Given the description of an element on the screen output the (x, y) to click on. 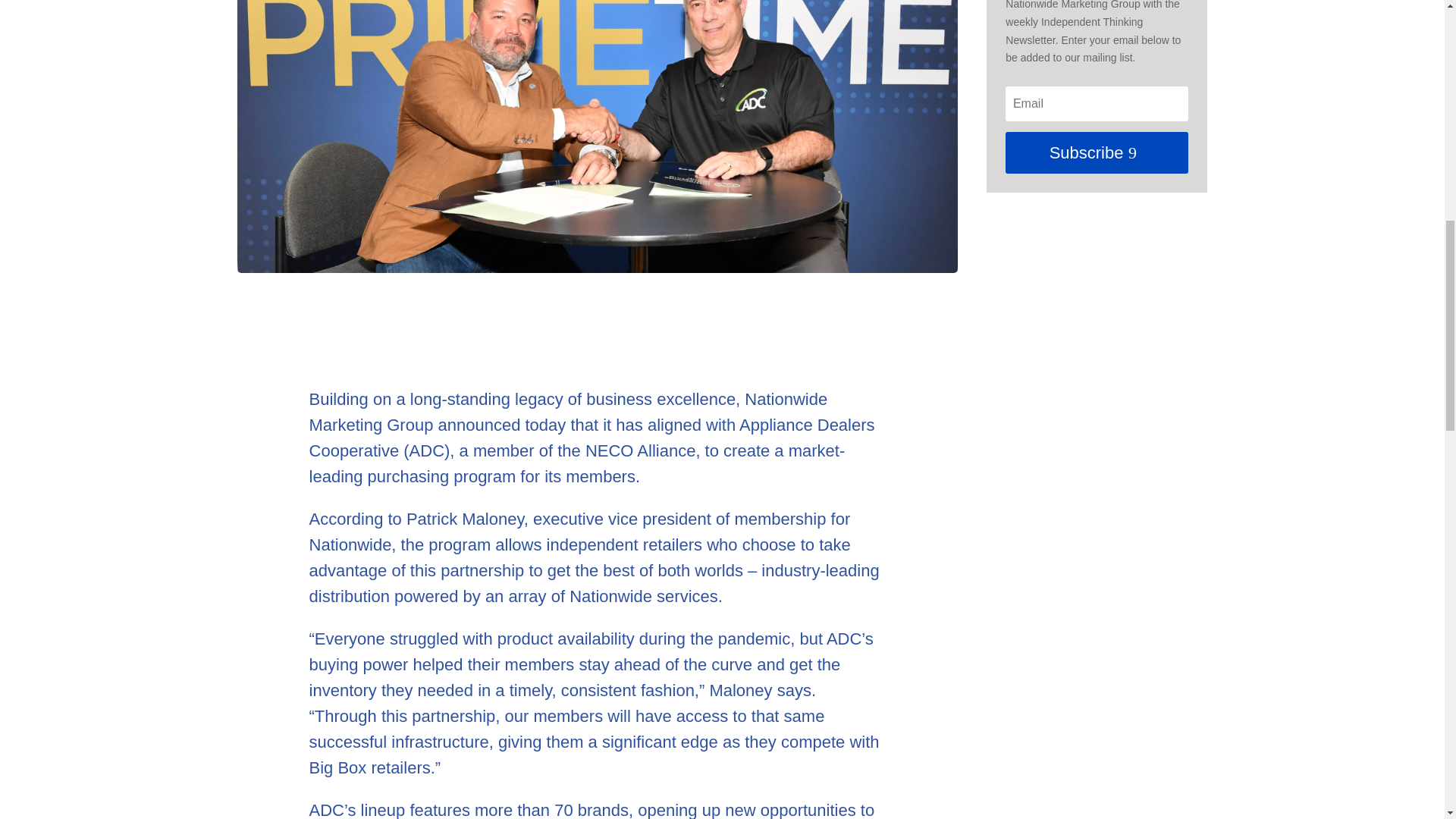
Subscribe (1097, 152)
